Given the description of an element on the screen output the (x, y) to click on. 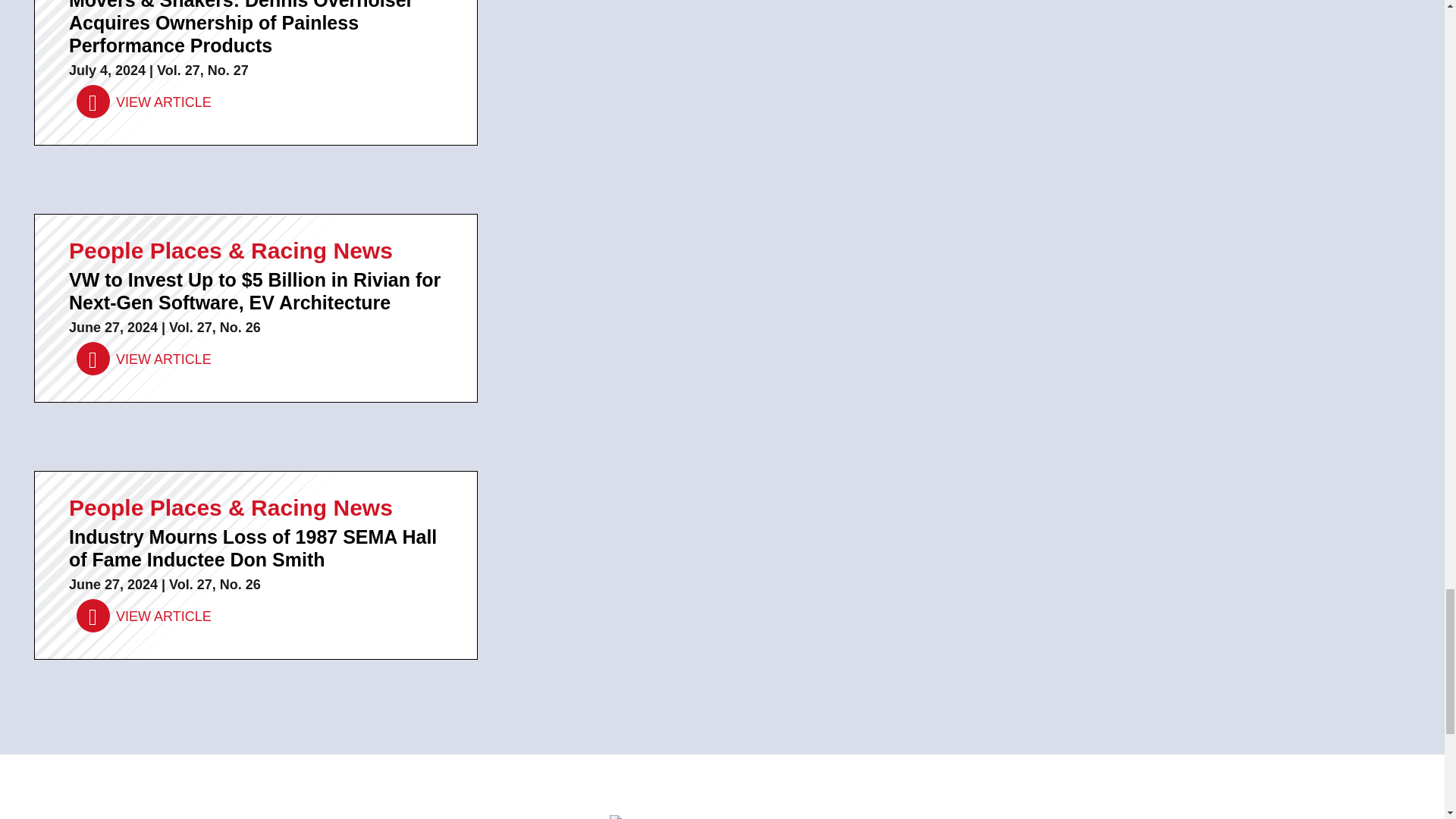
VIEW ARTICLE (143, 358)
VIEW ARTICLE (143, 101)
SEMA SBN Ally Series August 20th (722, 816)
VIEW ARTICLE (143, 616)
